Given the description of an element on the screen output the (x, y) to click on. 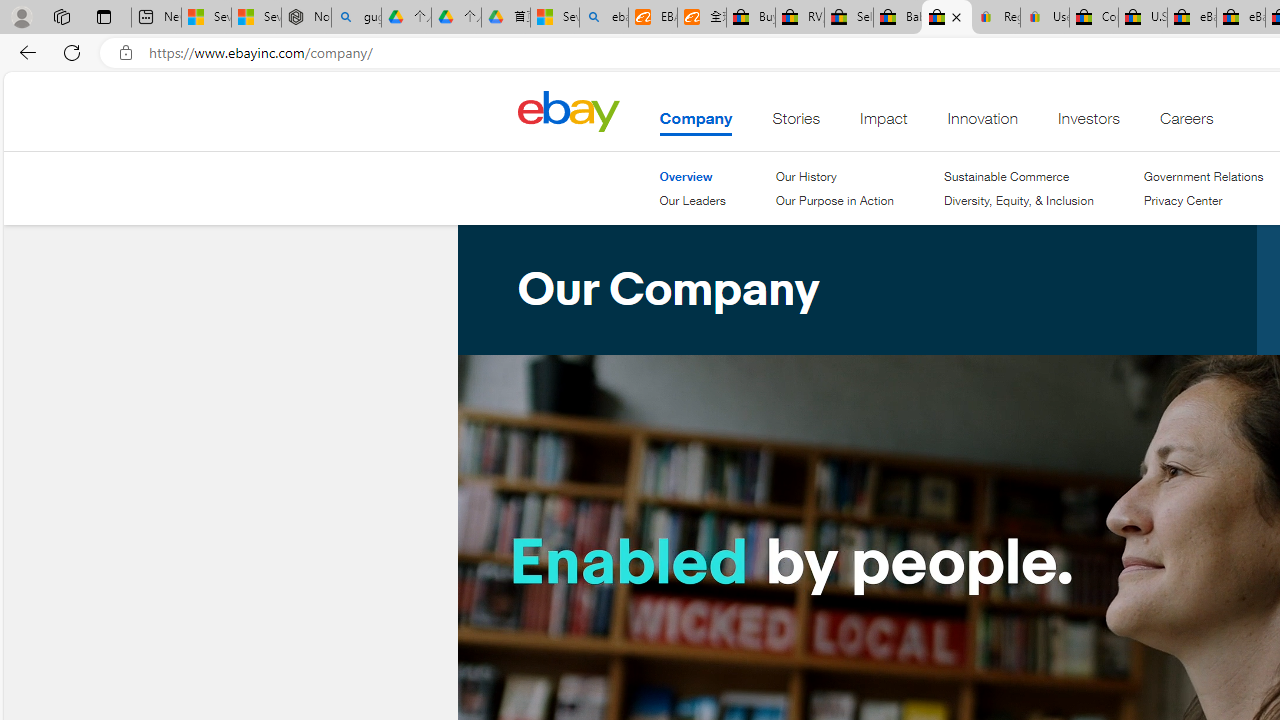
Innovation (982, 123)
Sell worldwide with eBay (848, 17)
User Privacy Notice | eBay (1044, 17)
guge yunpan - Search (356, 17)
Overview (692, 176)
Company (696, 123)
Our Leaders (692, 201)
Privacy Center (1182, 200)
Careers (1185, 123)
Privacy Center (1203, 201)
Stories (795, 123)
Investors (1089, 123)
